Given the description of an element on the screen output the (x, y) to click on. 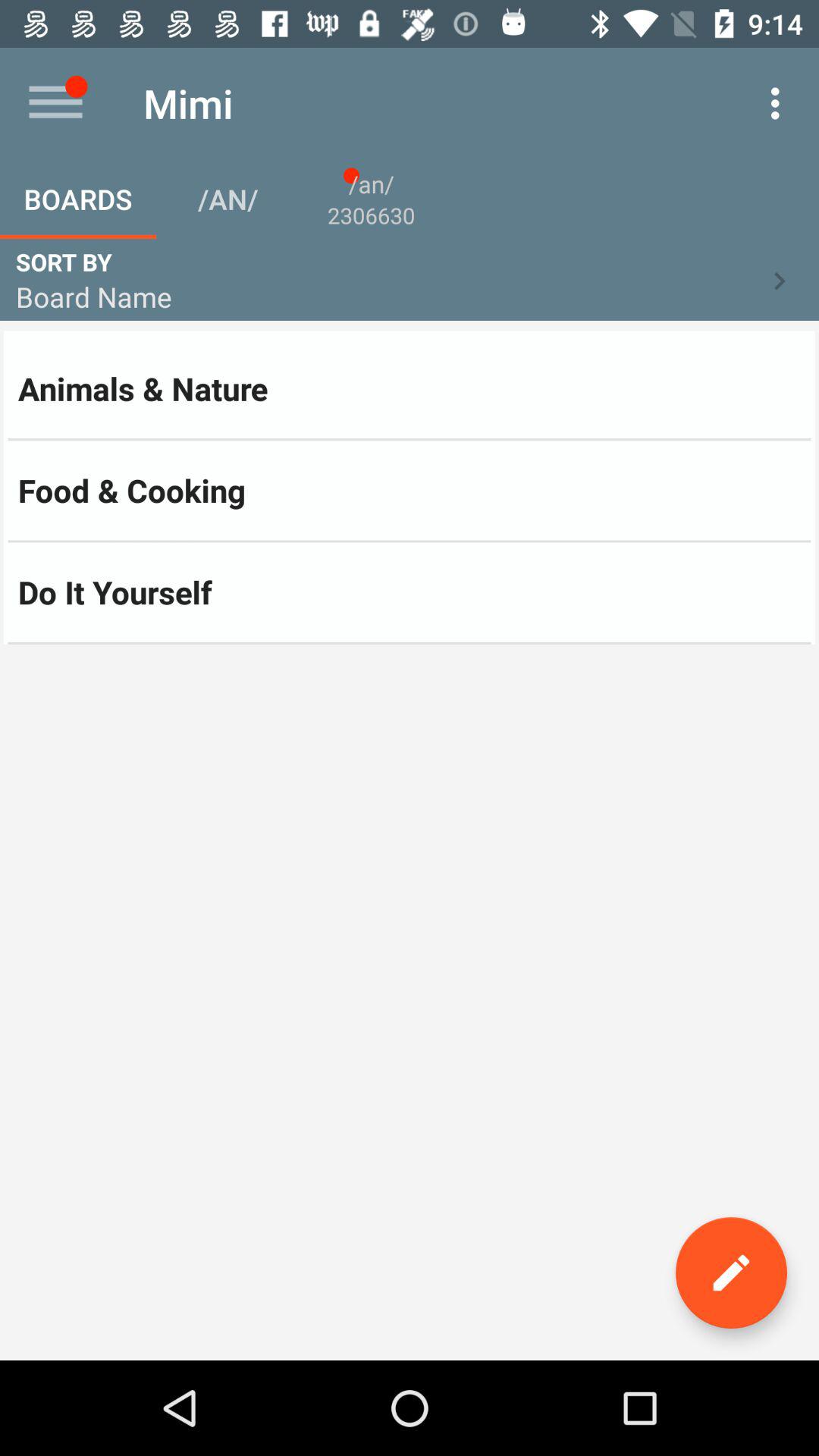
edit (731, 1272)
